Given the description of an element on the screen output the (x, y) to click on. 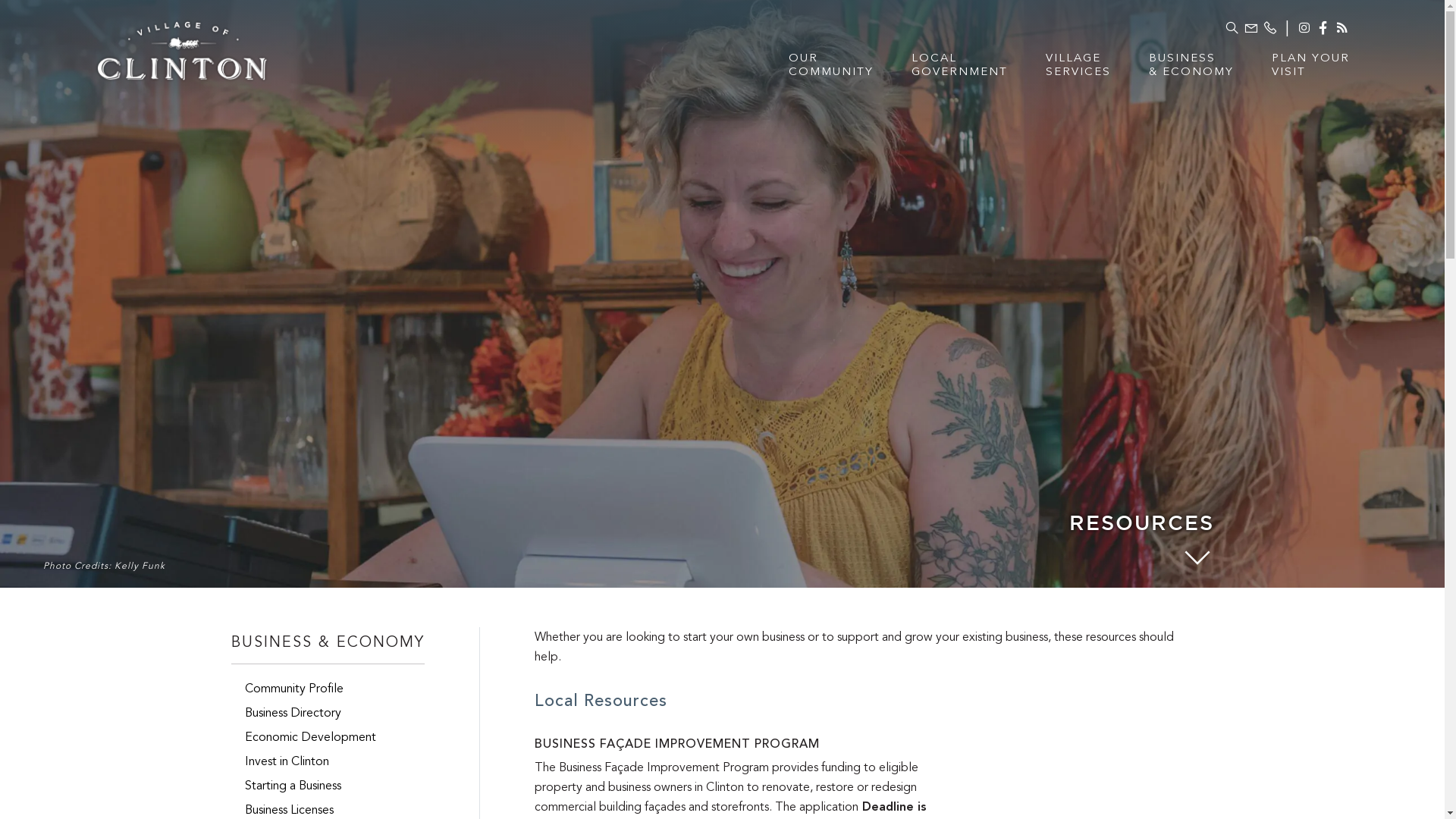
Economic Development Element type: text (326, 736)
LOCAL
GOVERNMENT Element type: text (959, 73)
OUR
COMMUNITY Element type: text (830, 73)
Village of Clinton Element type: hover (181, 48)
PLAN YOUR
VISIT Element type: text (1310, 73)
Business Directory Element type: text (326, 712)
VILLAGE
SERVICES Element type: text (1077, 73)
Starting a Business Element type: text (326, 785)
BUSINESS
& ECONOMY Element type: text (1190, 73)
Invest in Clinton Element type: text (326, 761)
Community Profile Element type: text (326, 688)
